Given the description of an element on the screen output the (x, y) to click on. 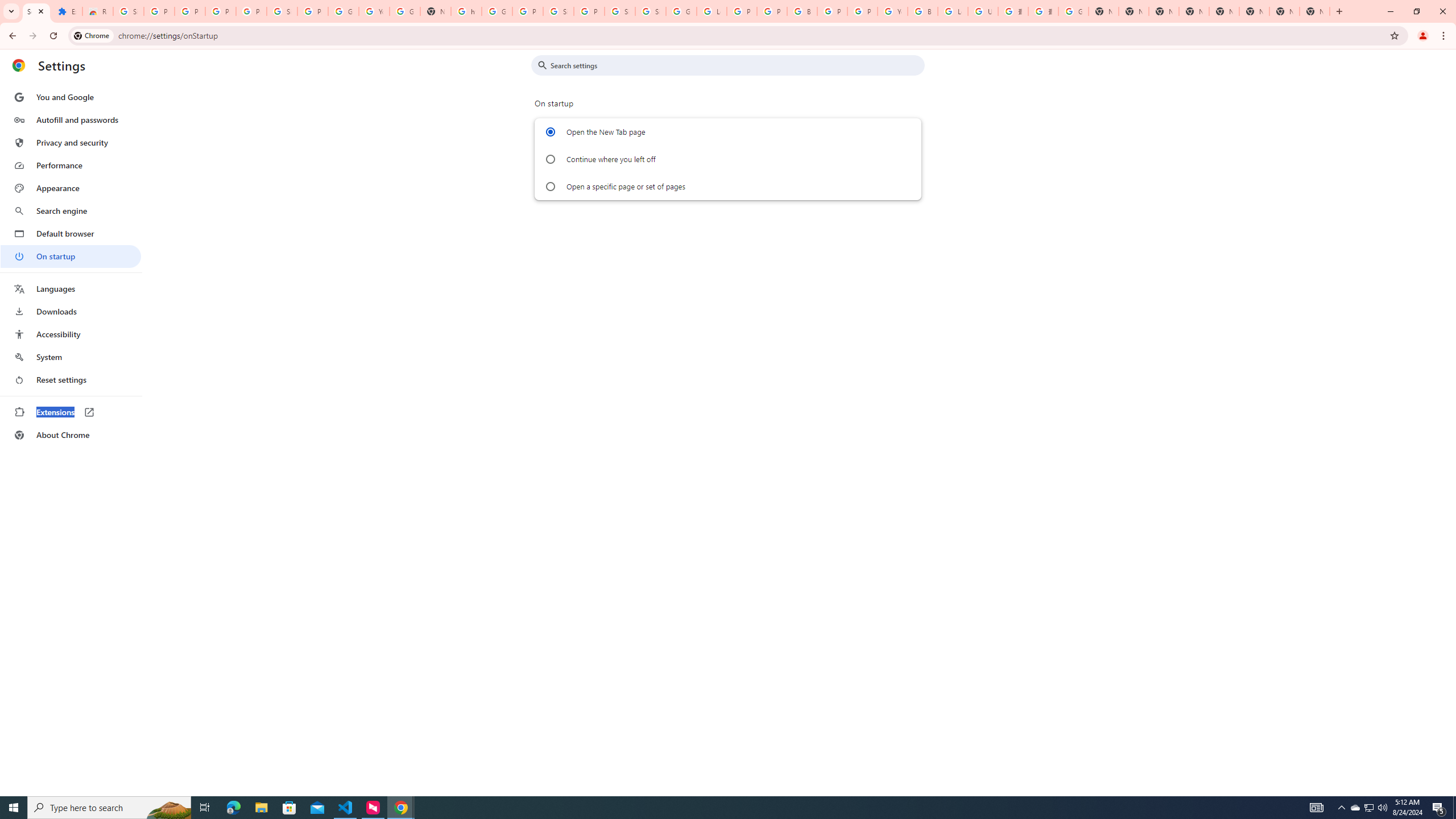
Privacy Help Center - Policies Help (741, 11)
YouTube (892, 11)
Search settings (735, 65)
Extensions (66, 11)
Accessibility (70, 333)
Privacy and security (70, 142)
Search engine (70, 210)
